Given the description of an element on the screen output the (x, y) to click on. 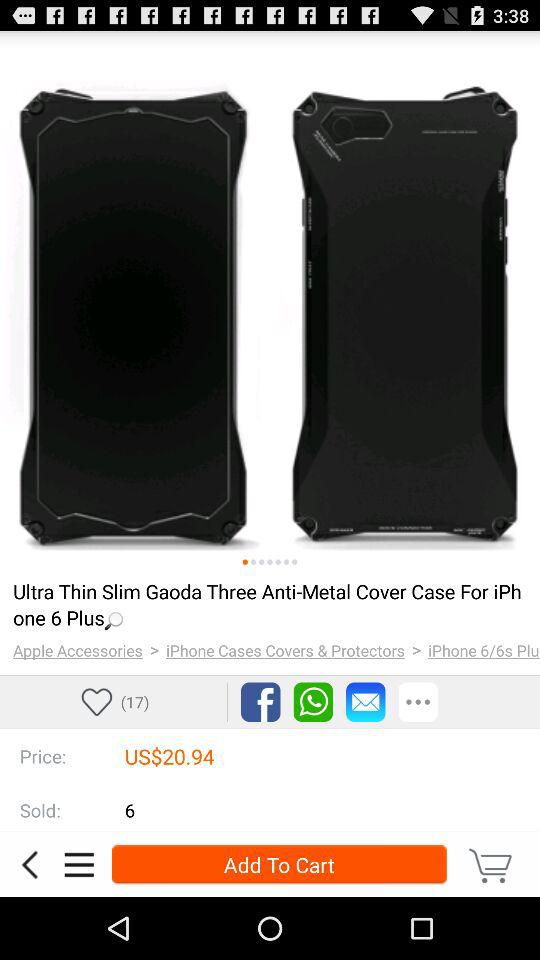
load next page (277, 561)
